Given the description of an element on the screen output the (x, y) to click on. 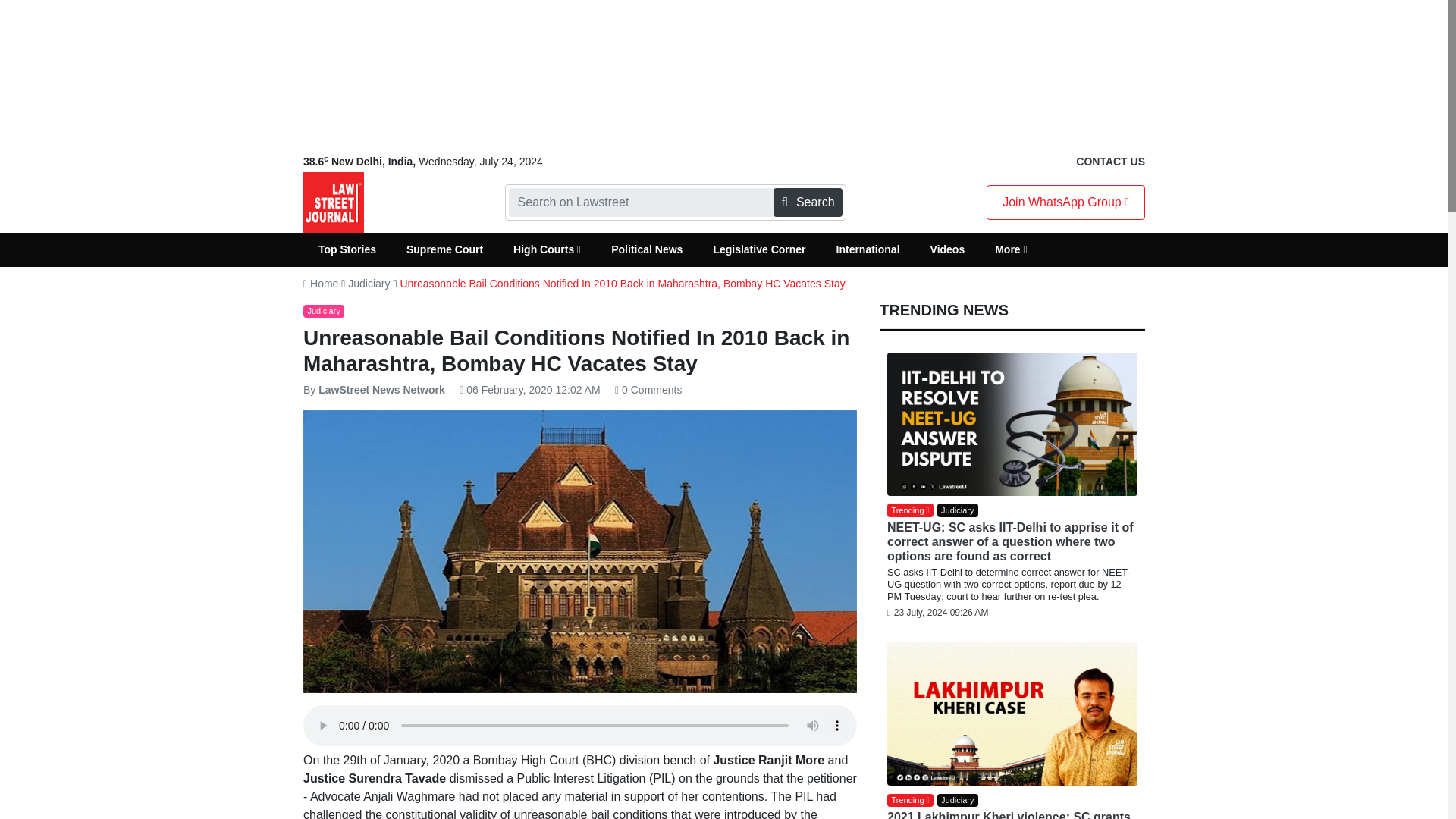
LawStreet Journal (333, 201)
Top Stories (346, 249)
More (1010, 249)
Search (807, 202)
Political News (646, 249)
Join WhatsApp Group (1065, 202)
Legislative Corner (759, 249)
International (868, 249)
CONTACT US (1109, 161)
High Courts (546, 249)
Supreme Court (444, 249)
Videos (947, 249)
